Given the description of an element on the screen output the (x, y) to click on. 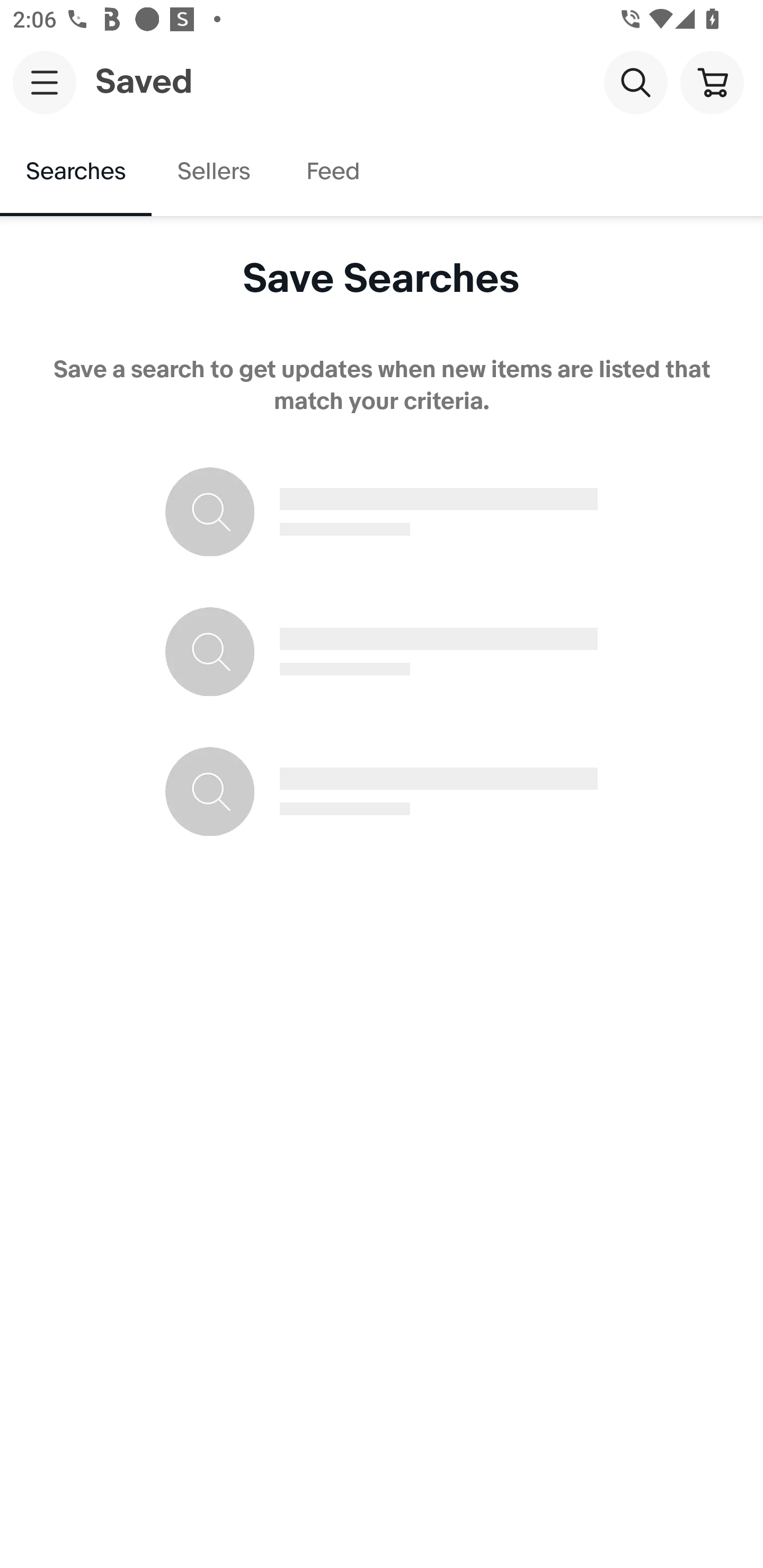
Main navigation, open (44, 82)
Search (635, 81)
Cart button shopping cart (711, 81)
Sellers (213, 171)
Feed (332, 171)
